Given the description of an element on the screen output the (x, y) to click on. 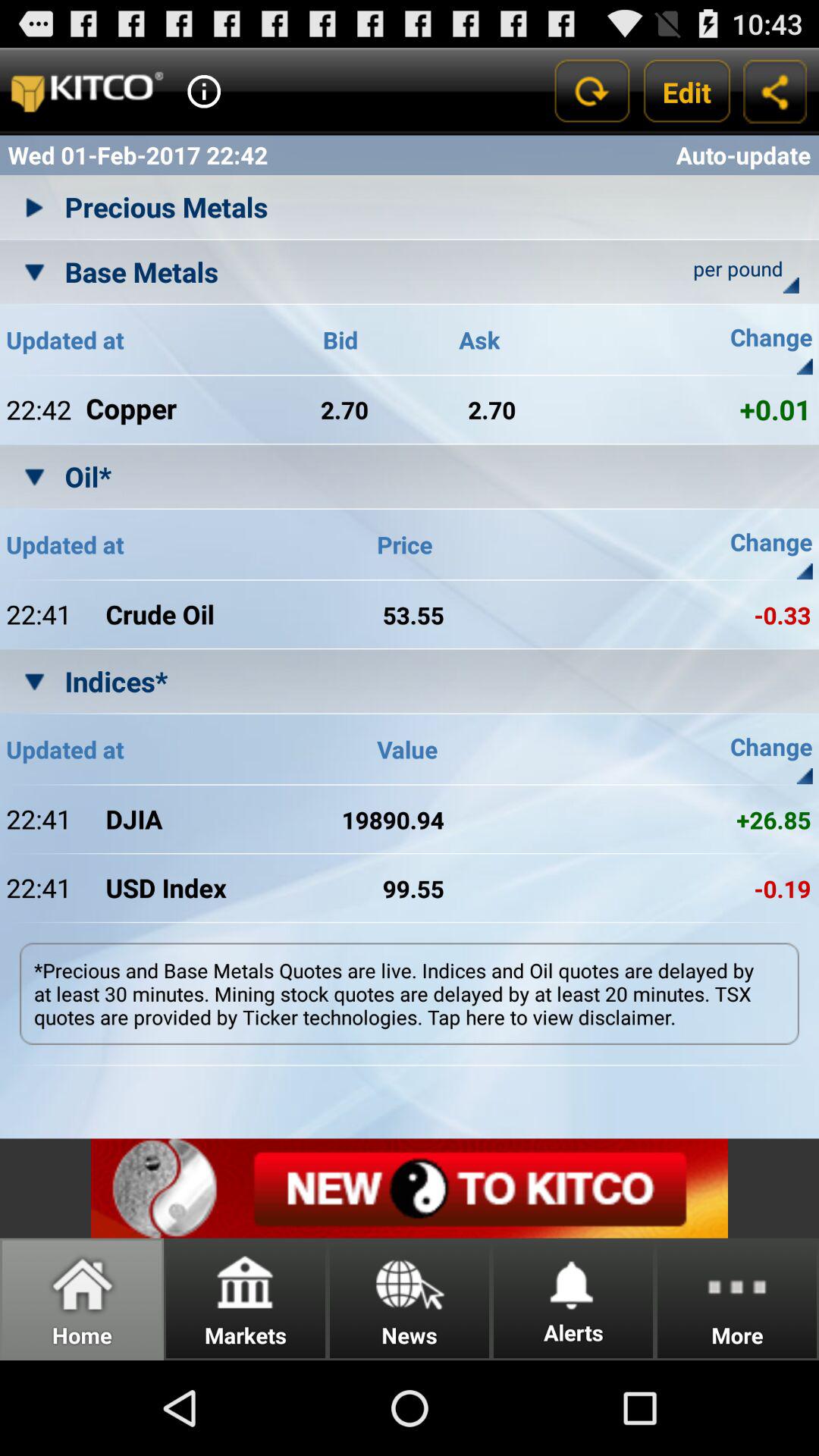
view help button (204, 91)
